Given the description of an element on the screen output the (x, y) to click on. 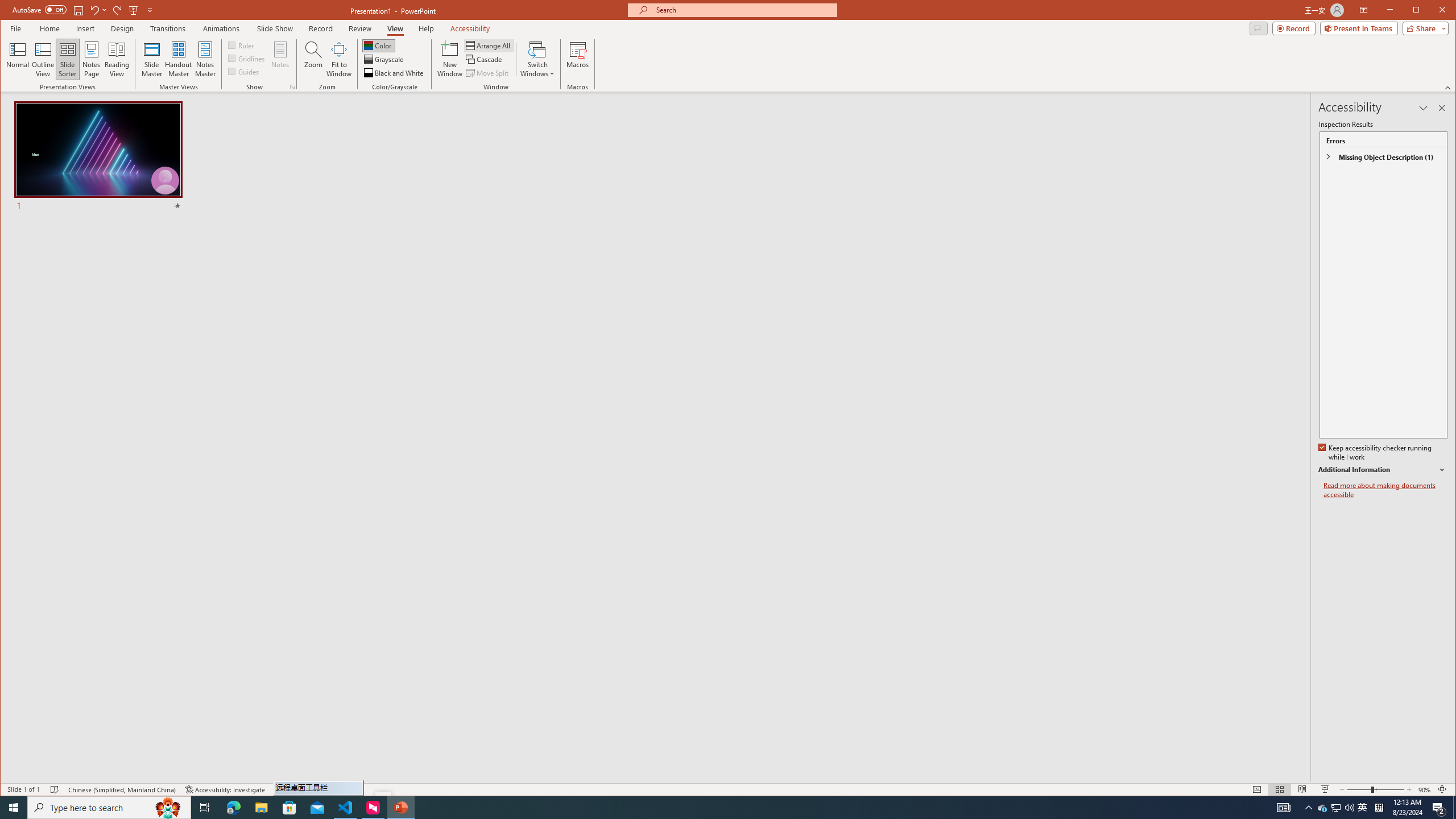
Slide Master (151, 59)
Zoom 90% (1424, 789)
Grid Settings... (292, 86)
